Given the description of an element on the screen output the (x, y) to click on. 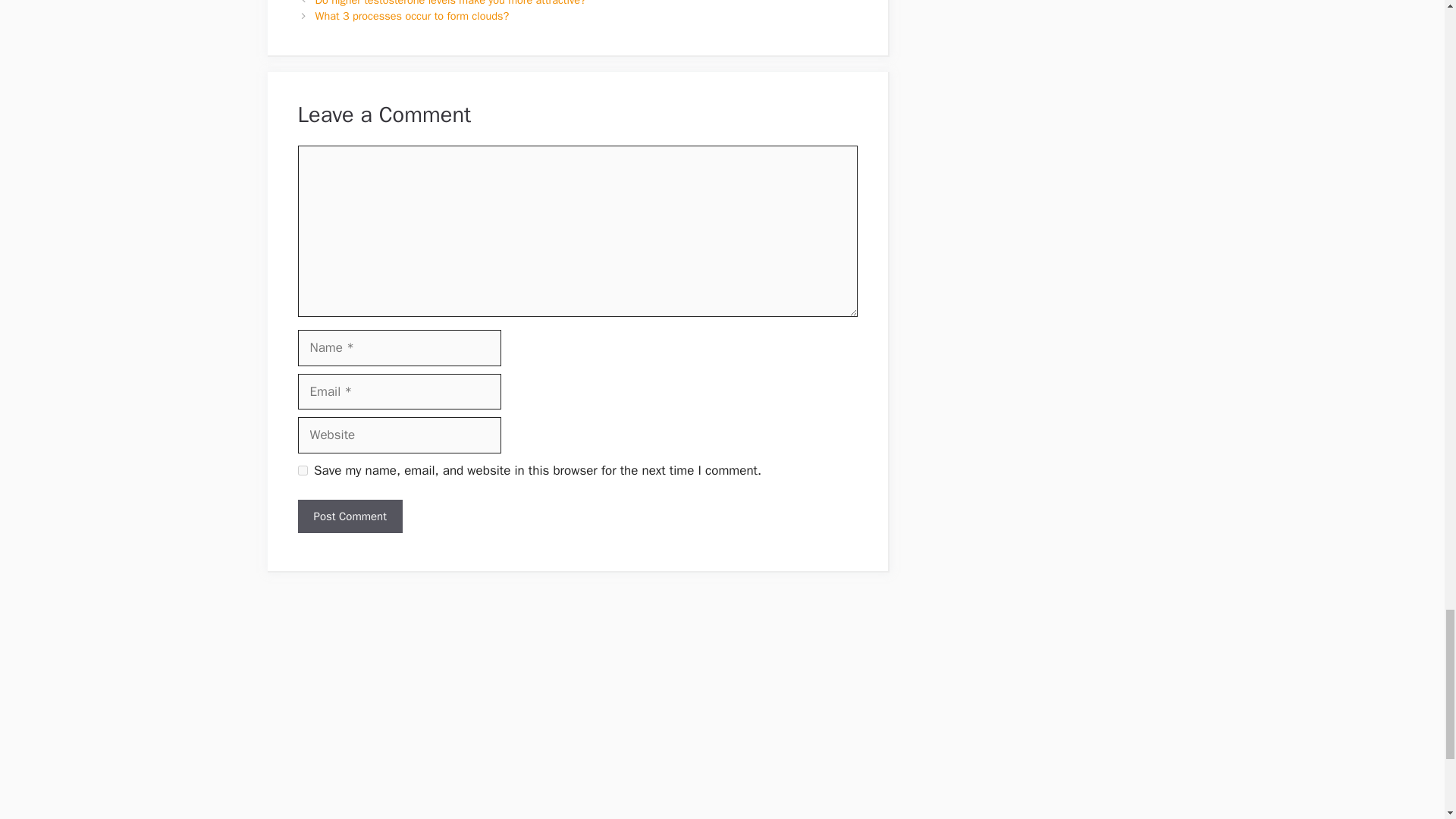
yes (302, 470)
Do higher testosterone levels make you more attractive? (450, 3)
What 3 processes occur to form clouds? (412, 15)
Post Comment (349, 516)
Post Comment (349, 516)
